Given the description of an element on the screen output the (x, y) to click on. 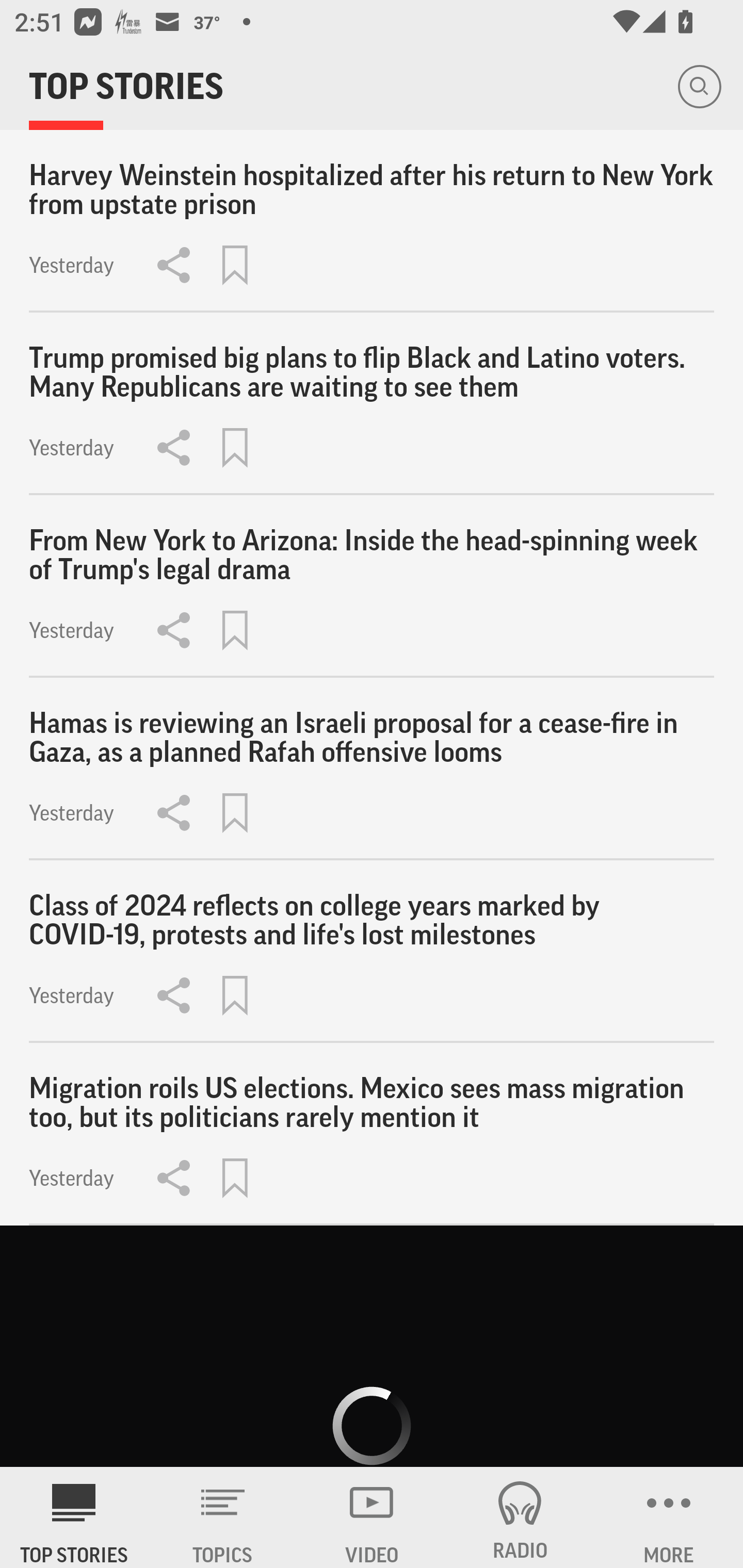
toggle controls (371, 1346)
AP News TOP STORIES (74, 1517)
TOPICS (222, 1517)
VIDEO (371, 1517)
RADIO (519, 1517)
MORE (668, 1517)
